Given the description of an element on the screen output the (x, y) to click on. 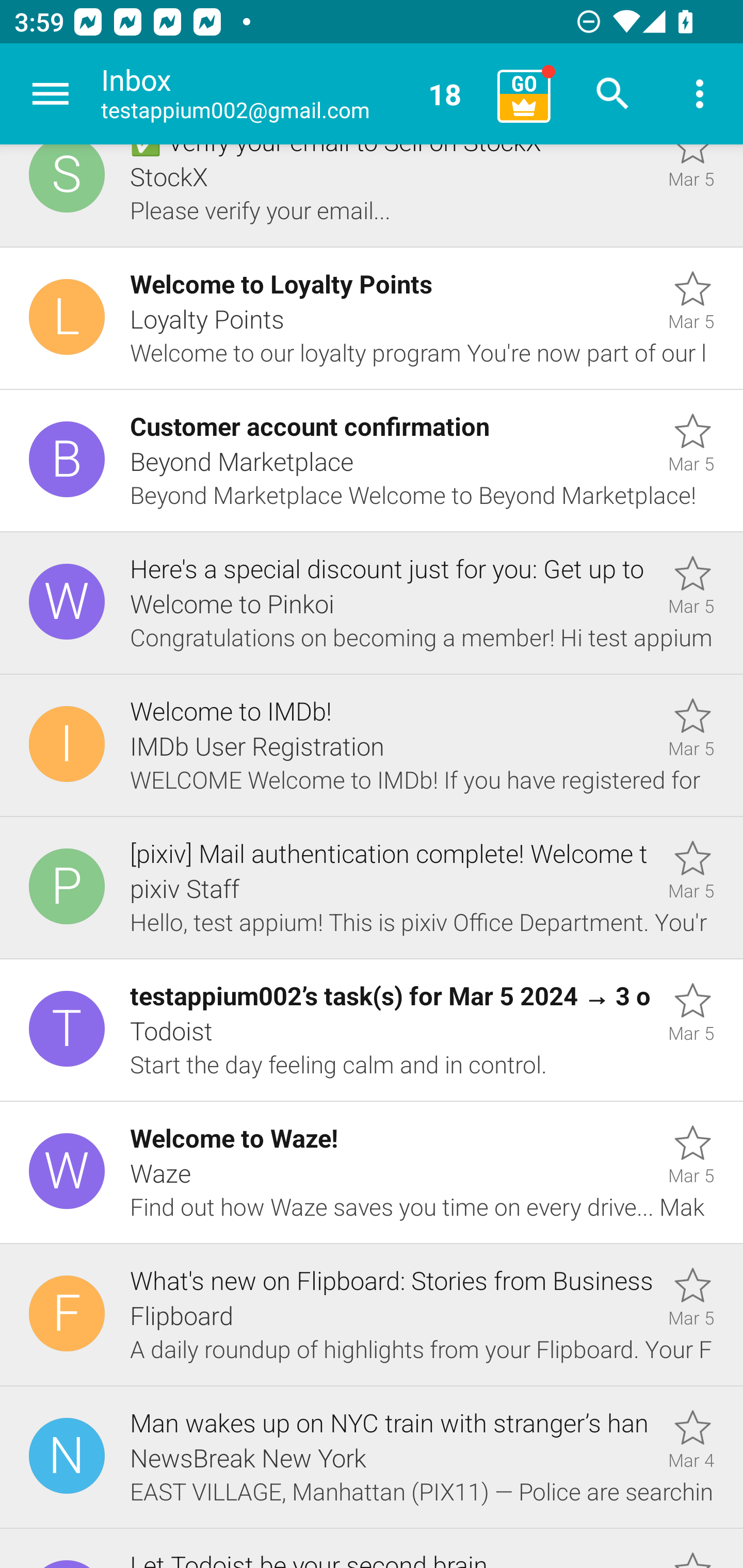
Navigate up (50, 93)
Inbox testappium002@gmail.com 18 (291, 93)
Search (612, 93)
More options (699, 93)
